Given the description of an element on the screen output the (x, y) to click on. 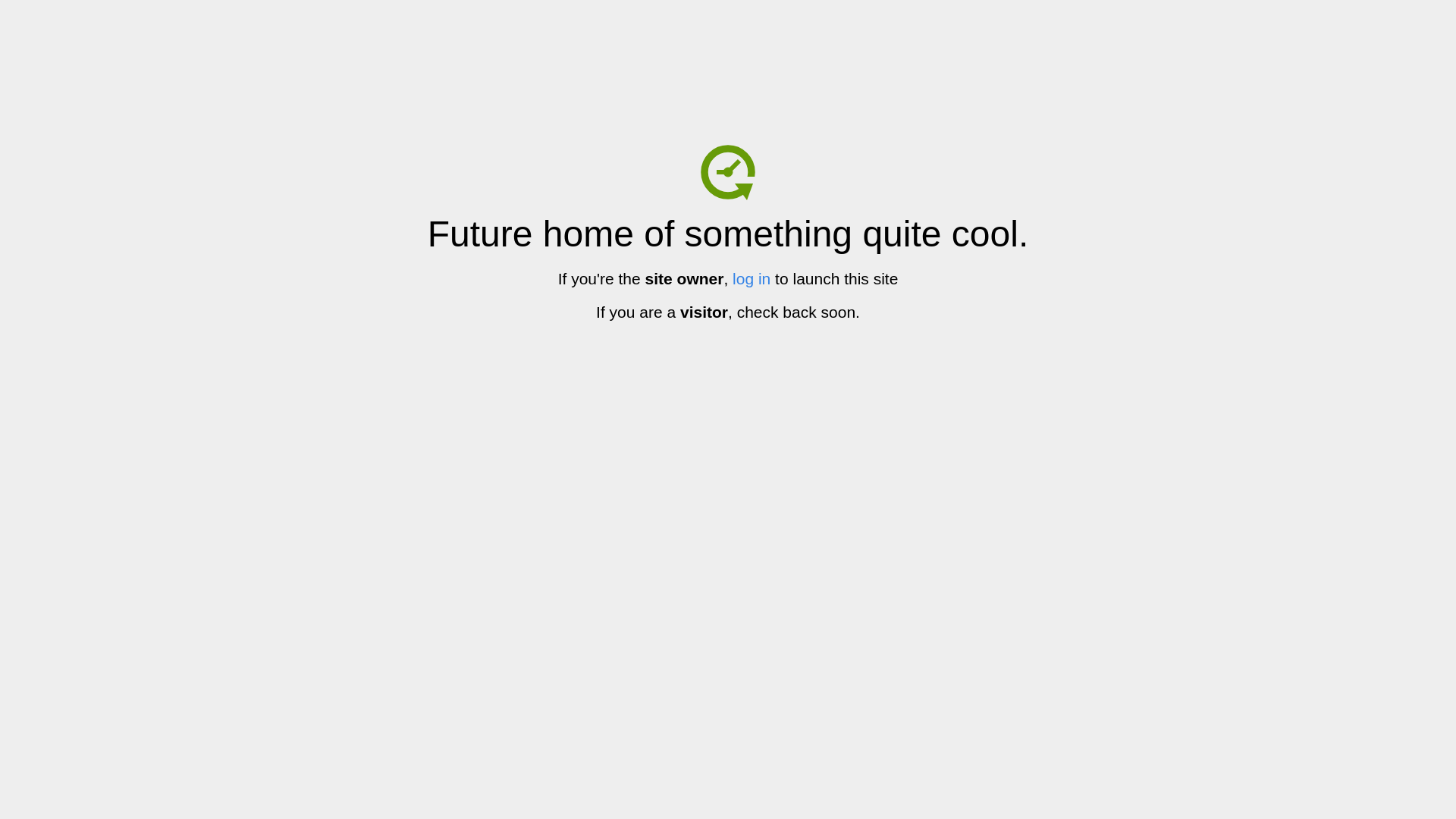
log in Element type: text (751, 278)
